Given the description of an element on the screen output the (x, y) to click on. 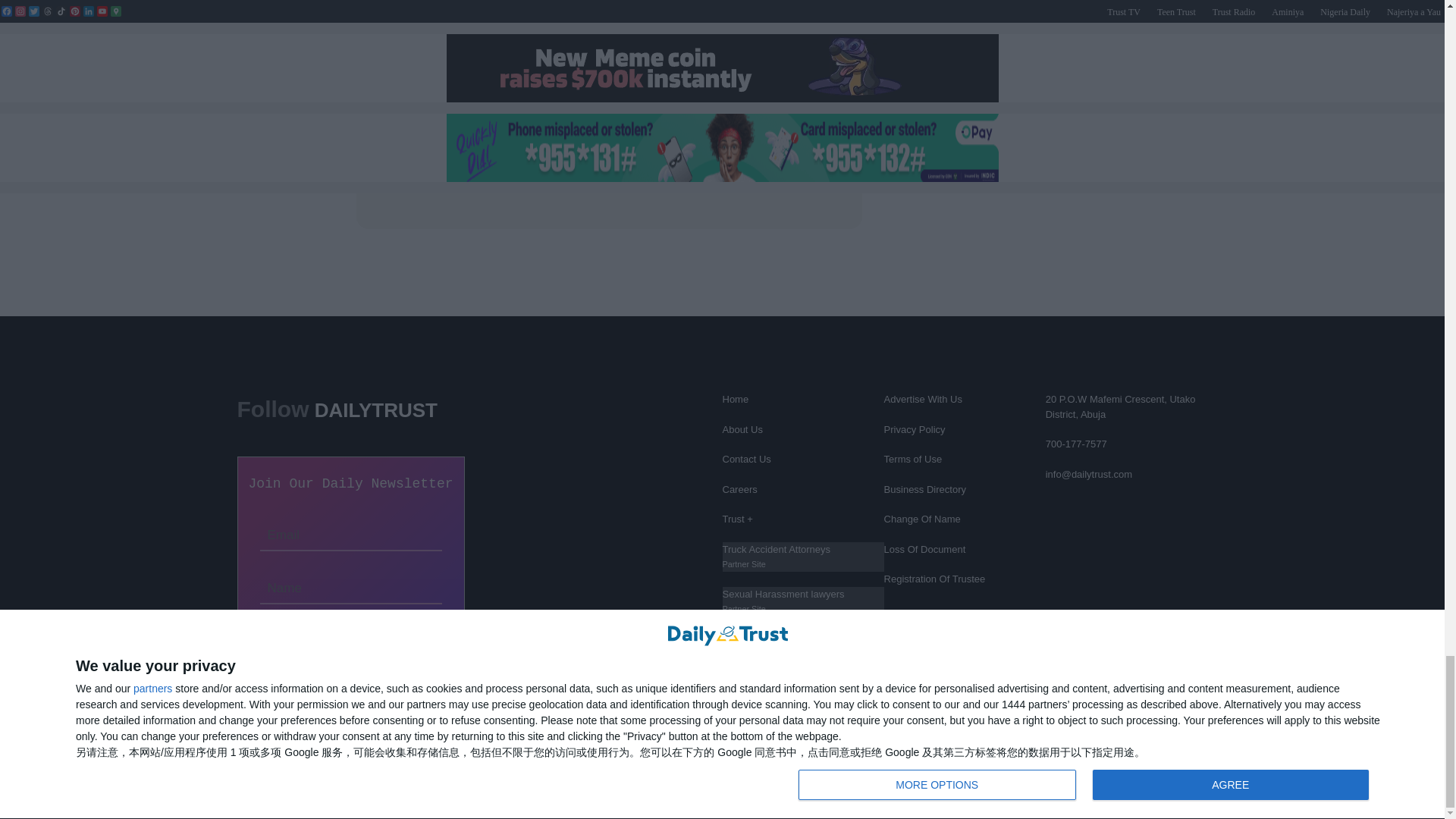
Join Now (350, 634)
